Given the description of an element on the screen output the (x, y) to click on. 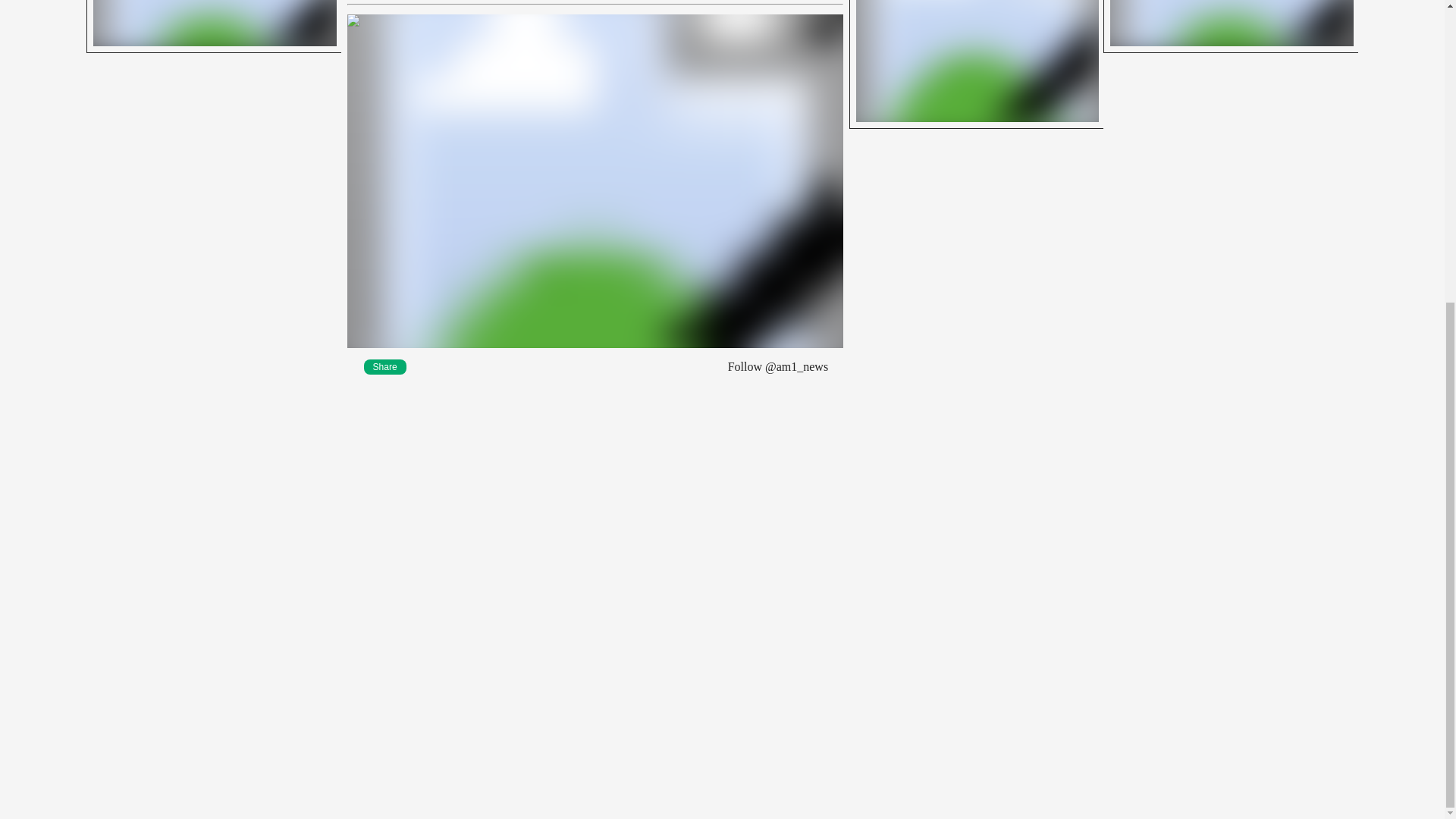
Share (212, 26)
